Given the description of an element on the screen output the (x, y) to click on. 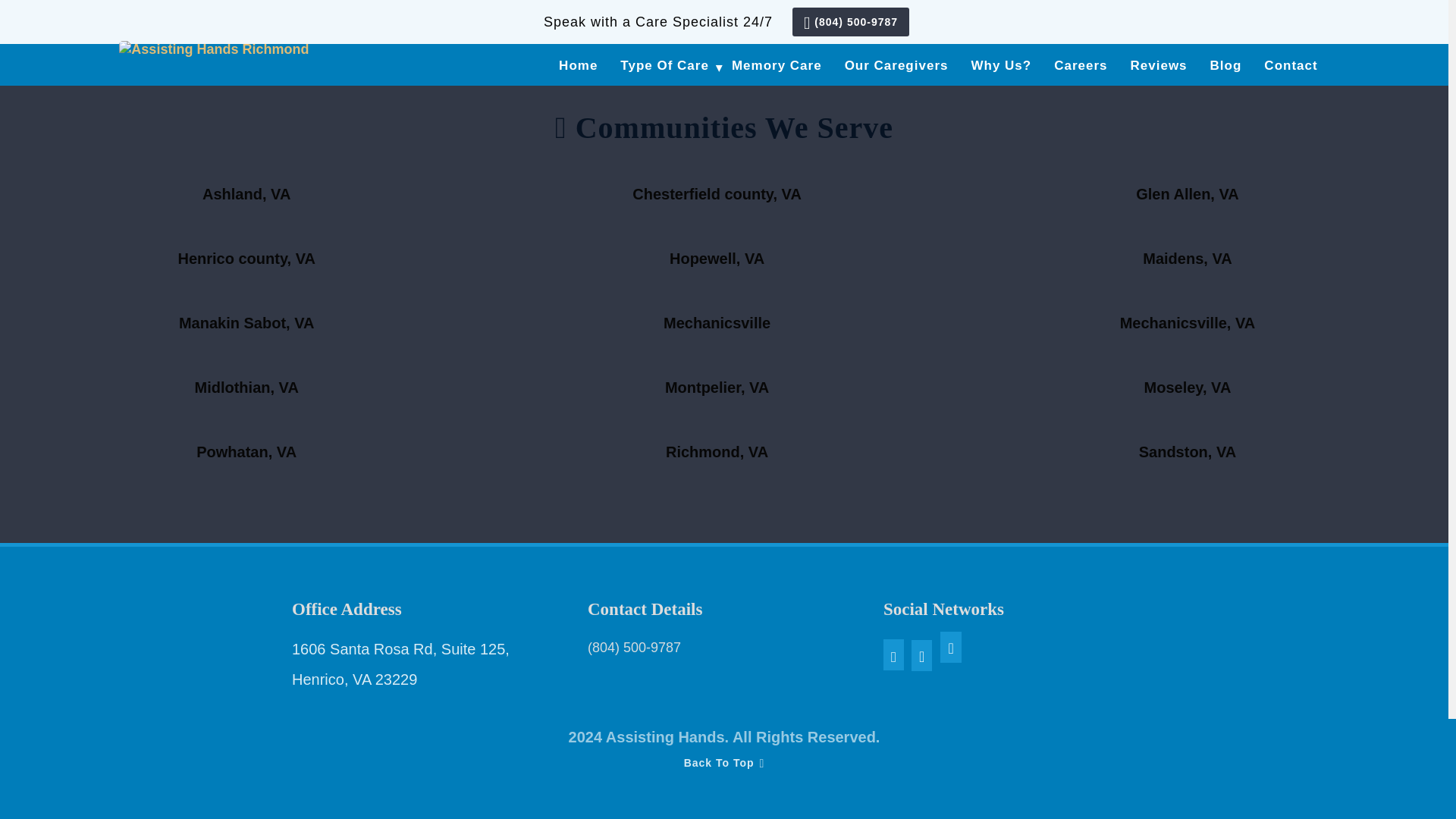
Back To Top (782, 774)
Back To Top (782, 774)
